Given the description of an element on the screen output the (x, y) to click on. 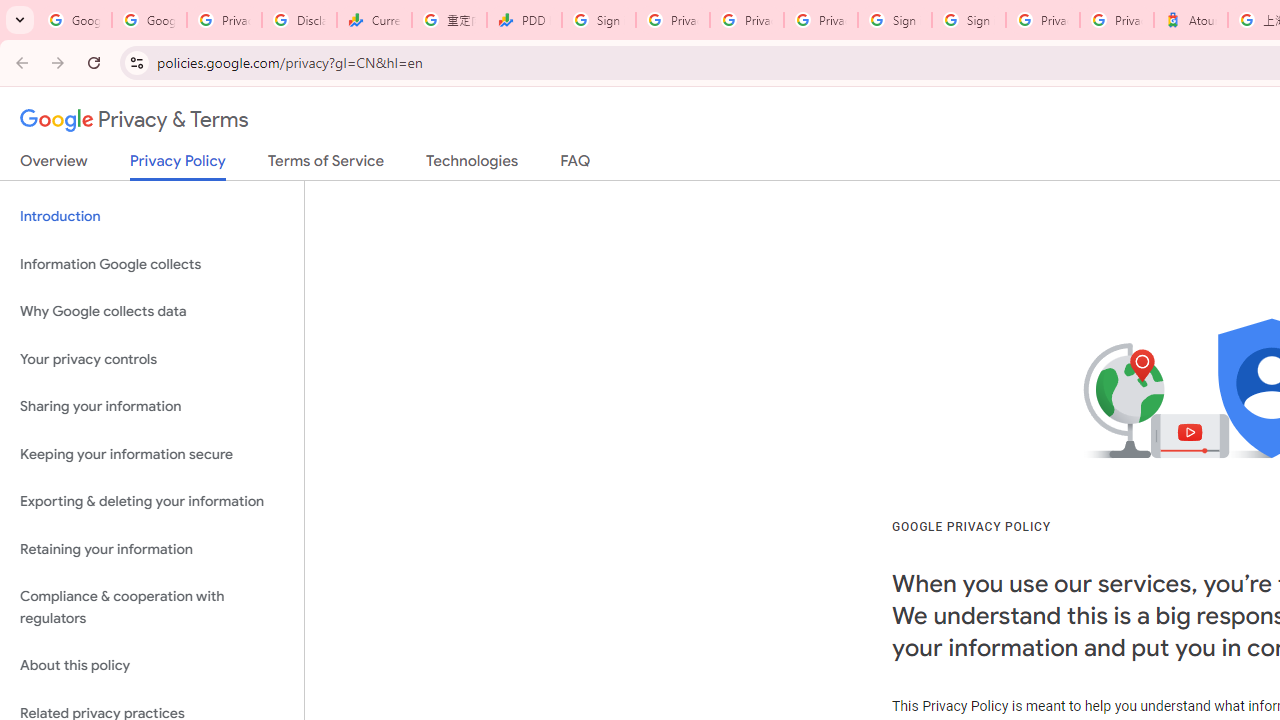
Sharing your information (152, 407)
Privacy Checkup (747, 20)
PDD Holdings Inc - ADR (PDD) Price & News - Google Finance (523, 20)
Introduction (152, 216)
Sign in - Google Accounts (894, 20)
Currencies - Google Finance (374, 20)
Compliance & cooperation with regulators (152, 607)
